Given the description of an element on the screen output the (x, y) to click on. 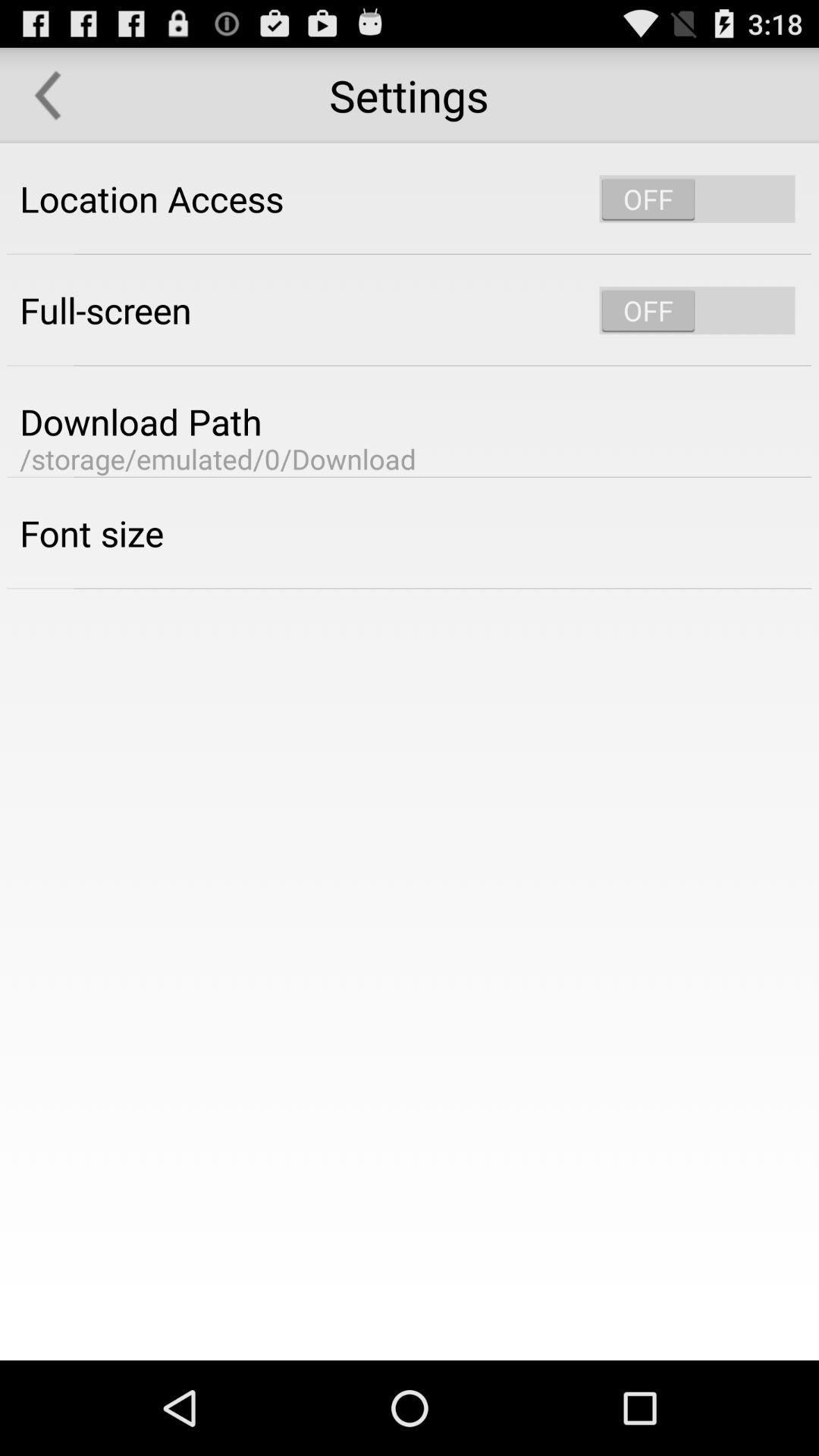
select icon to the right of full-screen app (697, 310)
